Given the description of an element on the screen output the (x, y) to click on. 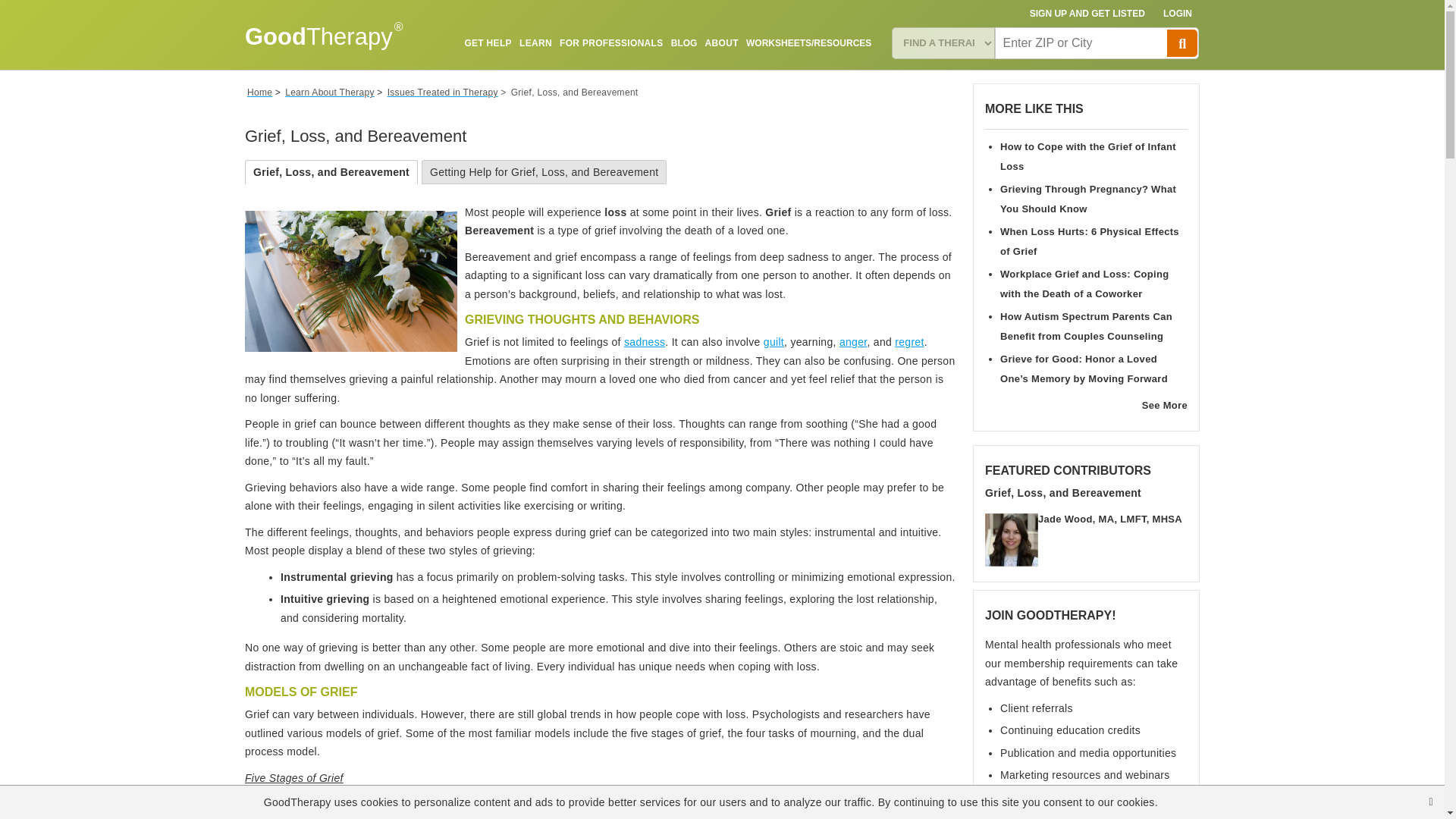
P (1181, 42)
BLOG (684, 42)
LOGIN (1177, 13)
See More (1164, 405)
SIGN UP AND GET LISTED (1087, 13)
NEWSLETTER (840, 77)
